Given the description of an element on the screen output the (x, y) to click on. 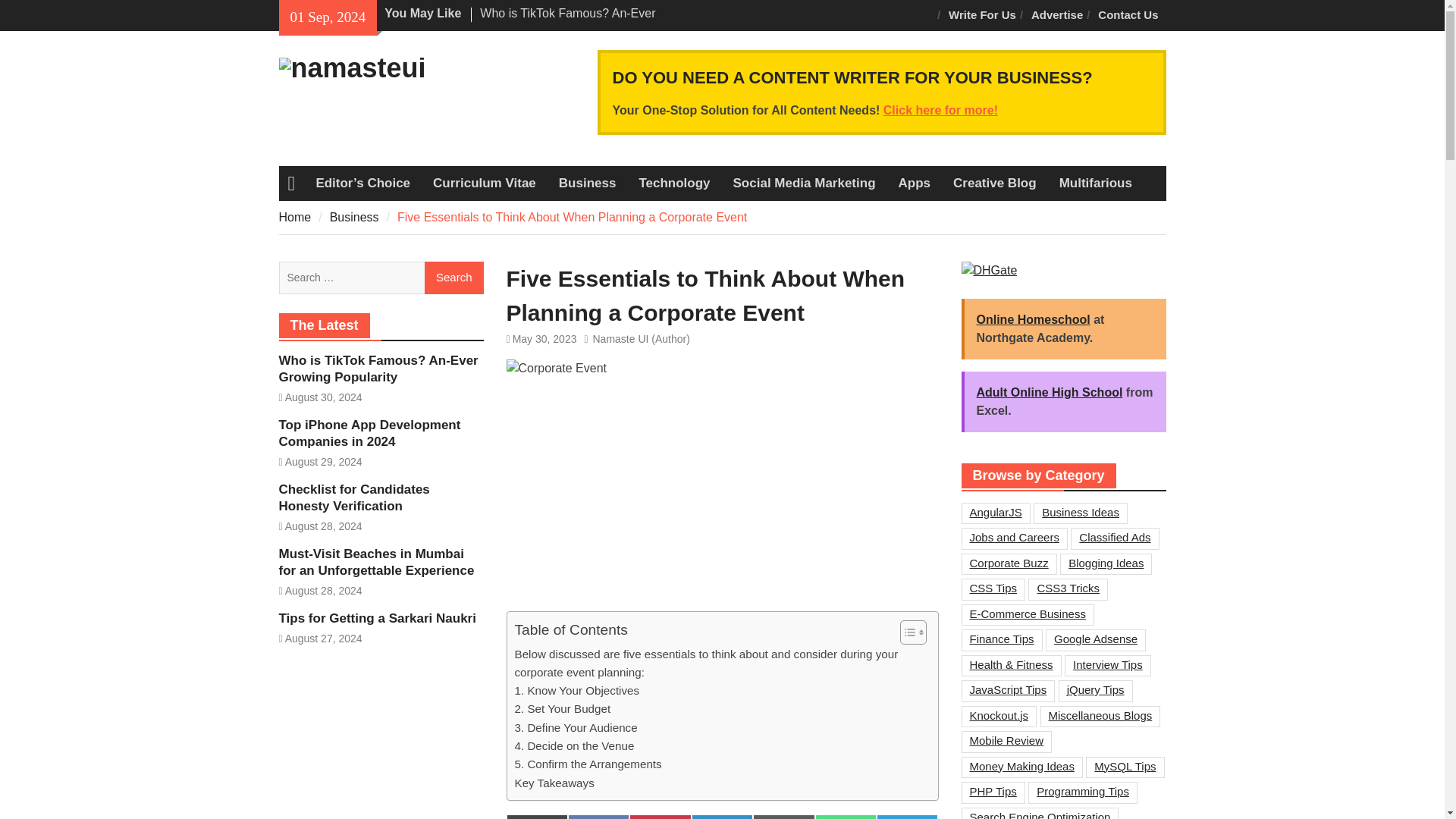
Write For Us (981, 15)
Business (587, 183)
Business (587, 183)
Contact Us (1128, 15)
2. Set Your Budget (561, 709)
Click here for more! (940, 110)
WritoMeter - Best Content Writing Agency (940, 110)
Search (454, 277)
Share on LinkedIn (721, 816)
